Given the description of an element on the screen output the (x, y) to click on. 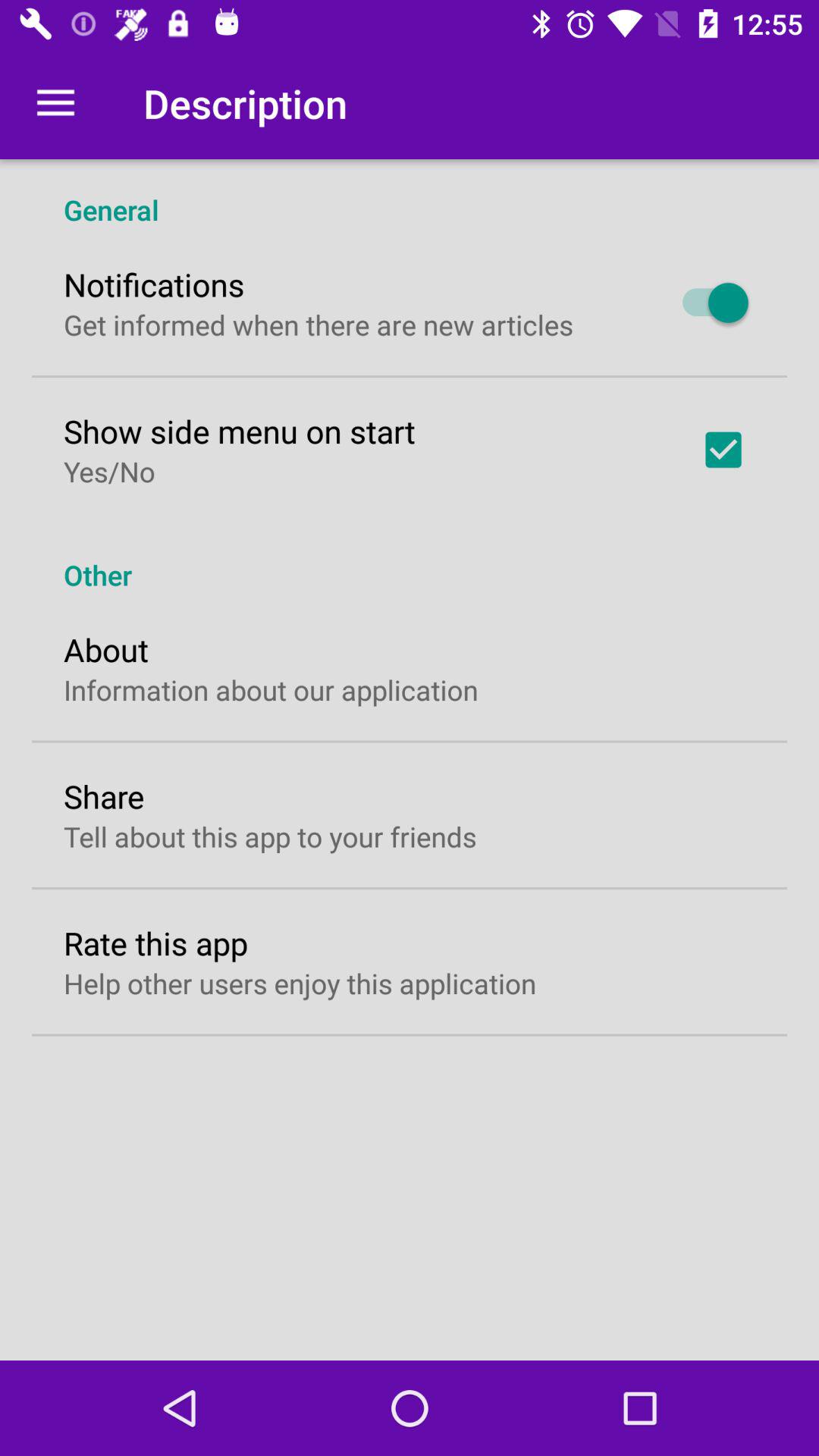
open app to the left of the description item (55, 103)
